Given the description of an element on the screen output the (x, y) to click on. 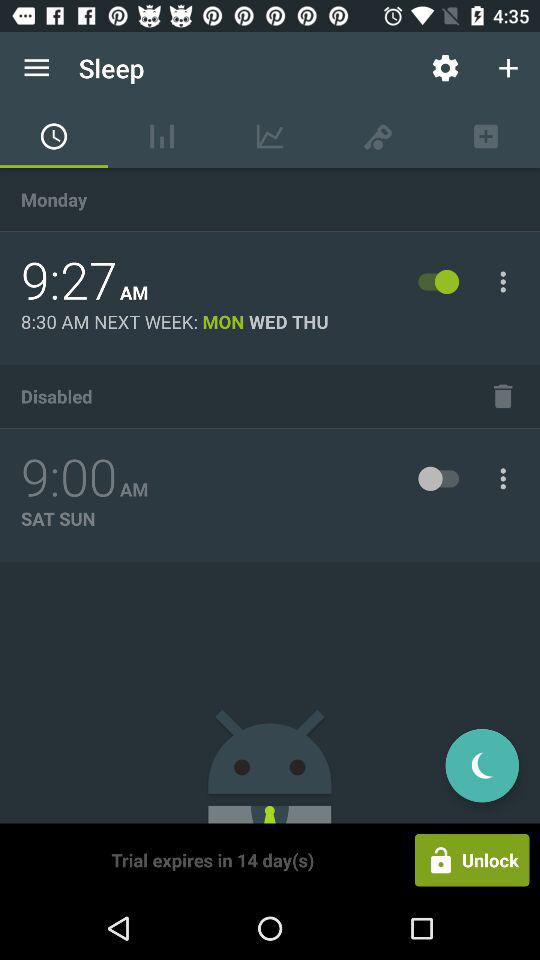
choose the item above unlock (482, 765)
